Given the description of an element on the screen output the (x, y) to click on. 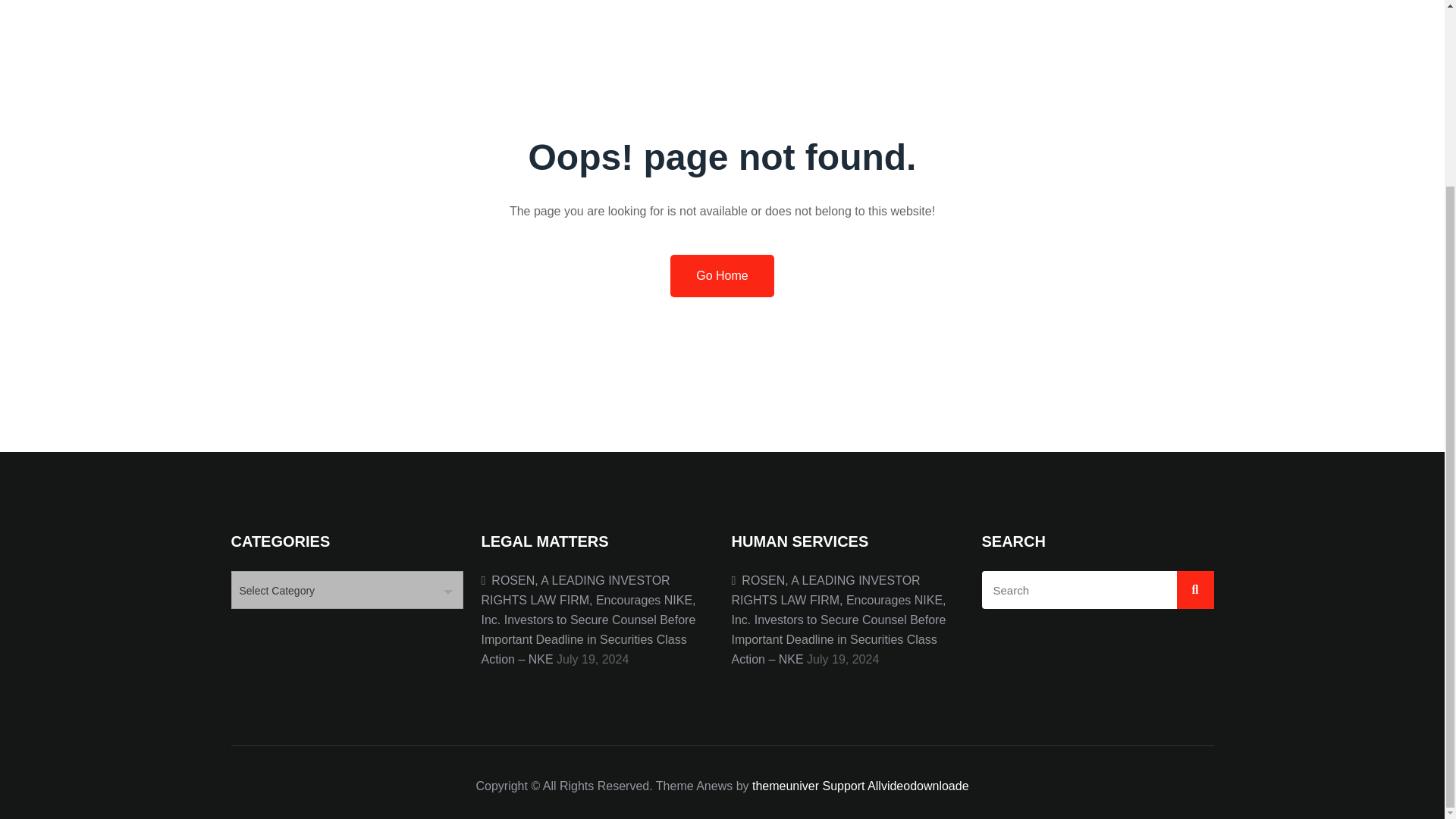
Go Home (721, 275)
Search for: (1096, 589)
themeuniver (785, 785)
Support Allvideodownloade (895, 785)
